Given the description of an element on the screen output the (x, y) to click on. 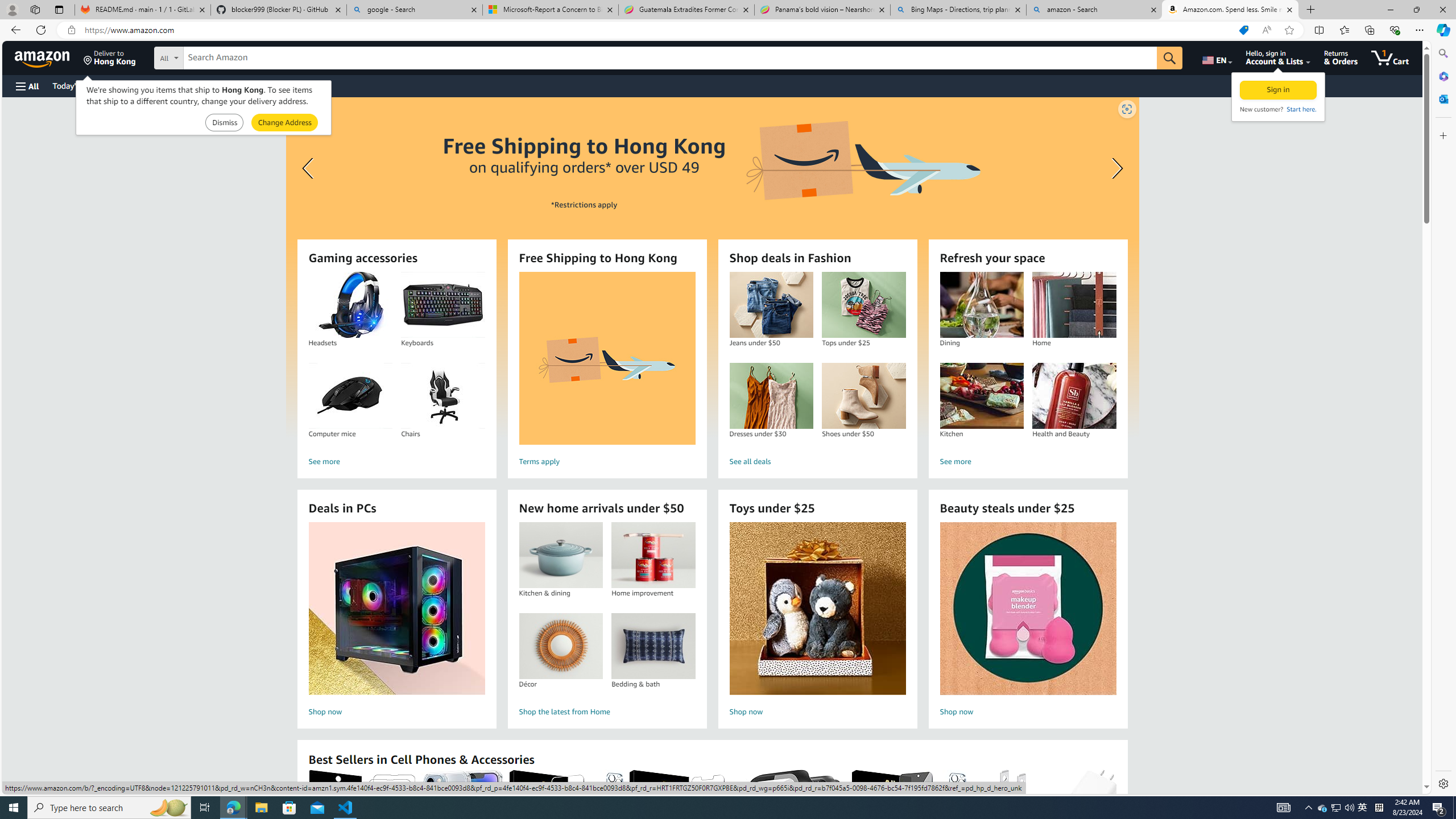
Open Menu (26, 86)
Dining (981, 304)
Kitchen (981, 395)
Kitchen (981, 395)
Computer mice (350, 395)
Dresses under $30 (771, 395)
Amazon (43, 57)
Deals in PCs (395, 608)
